Given the description of an element on the screen output the (x, y) to click on. 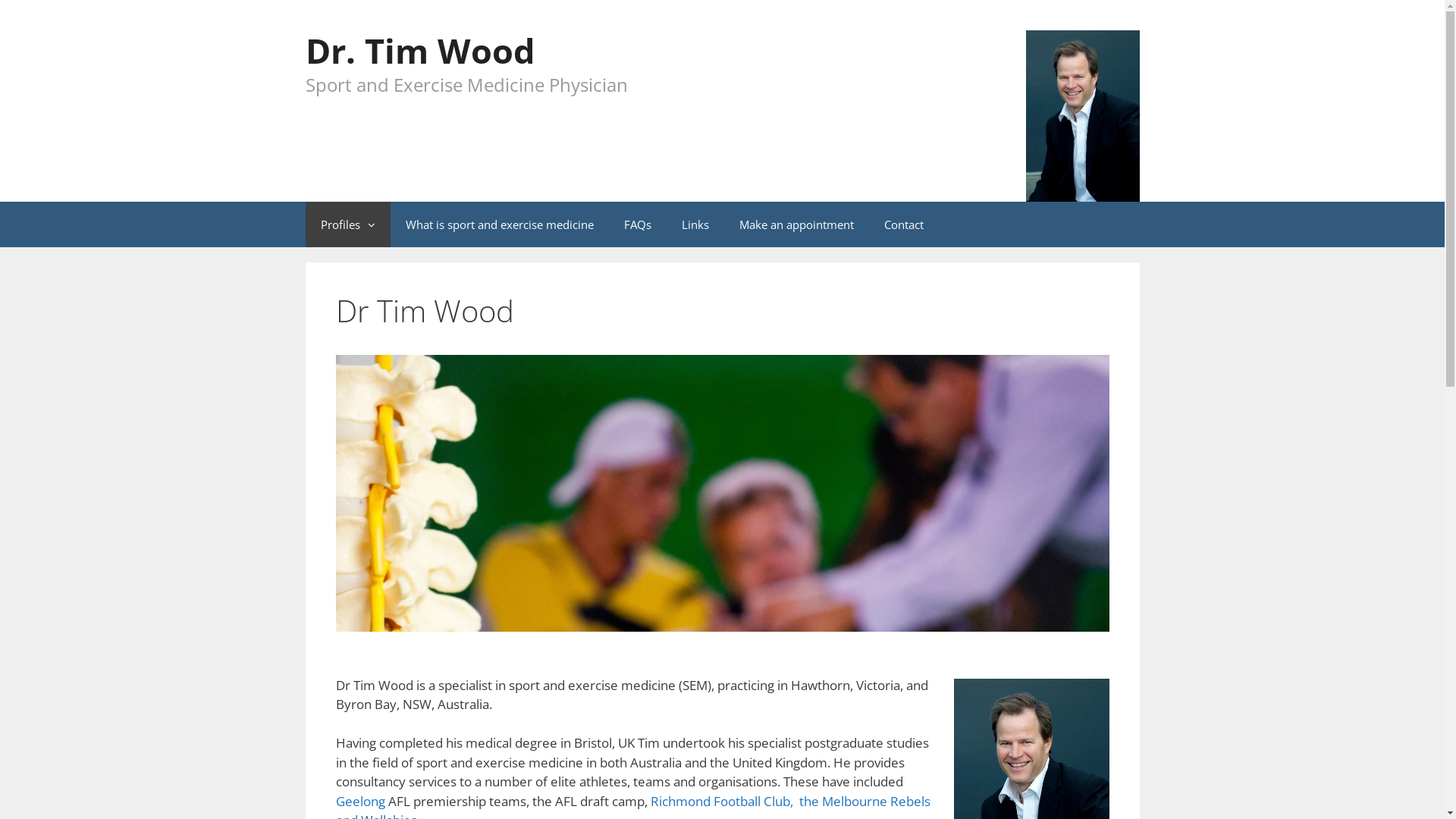
Geelong Element type: text (359, 800)
Make an appointment Element type: text (795, 224)
Contact Element type: text (903, 224)
Profiles Element type: text (346, 224)
Links Element type: text (694, 224)
Richmond Football Club,  Element type: text (723, 800)
What is sport and exercise medicine Element type: text (498, 224)
Skip to content Element type: text (43, 9)
FAQs Element type: text (636, 224)
Dr. Tim Wood Element type: text (418, 50)
